Given the description of an element on the screen output the (x, y) to click on. 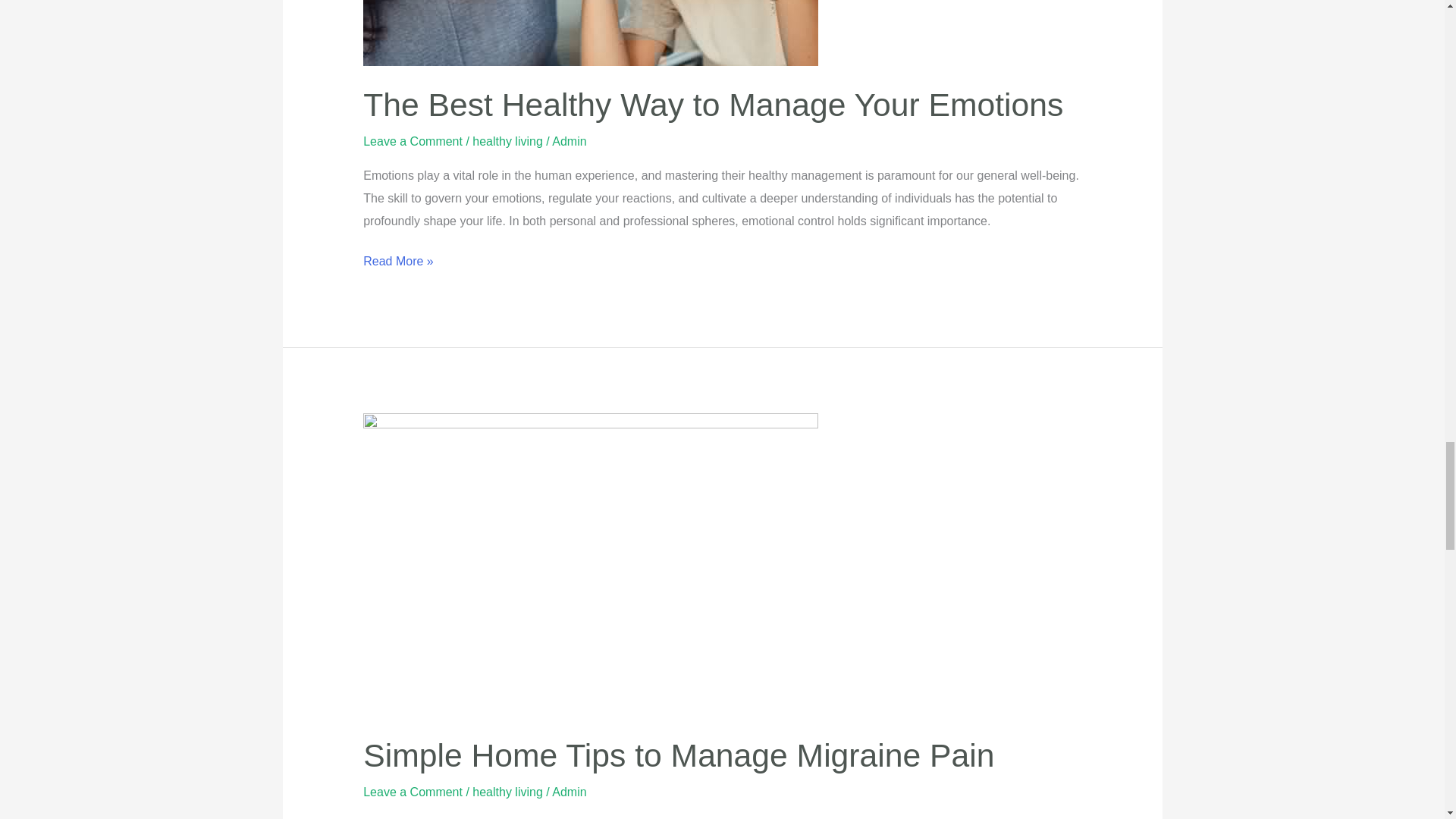
View all posts by Admin (568, 791)
View all posts by Admin (568, 141)
The Best Healthy Way to Manage Your Emotions (712, 104)
